Given the description of an element on the screen output the (x, y) to click on. 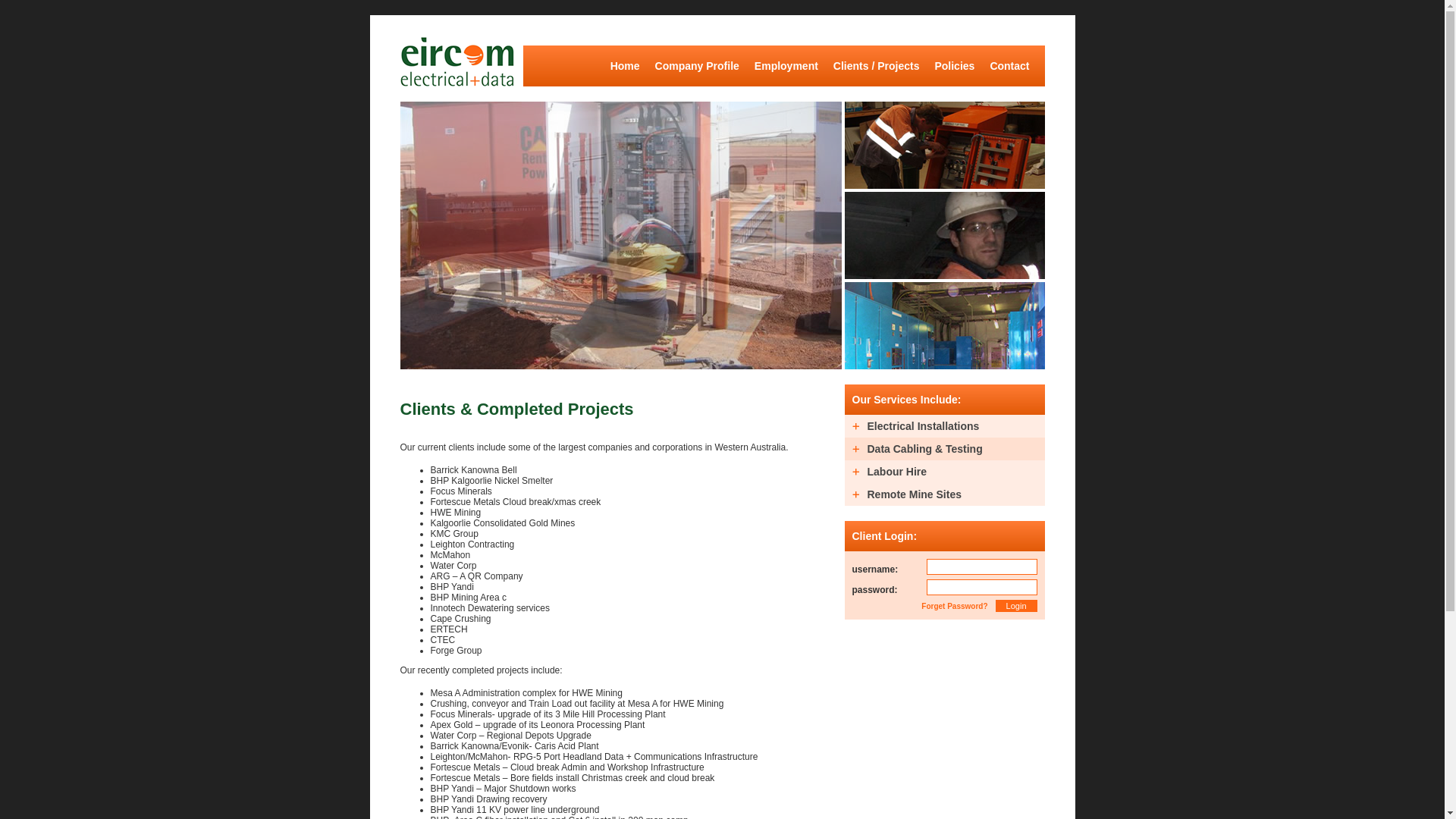
Clients / Projects Element type: text (876, 63)
Electrical Installations Element type: text (944, 425)
Employment Element type: text (786, 63)
Company Profile Element type: text (697, 63)
Labour Hire Element type: text (944, 471)
Home Element type: text (625, 63)
Login Element type: text (1016, 605)
Data Cabling & Testing Element type: text (944, 448)
Contact Element type: text (1009, 63)
Policies Element type: text (954, 63)
Forget Password? Element type: text (954, 606)
Remote Mine Sites Element type: text (944, 494)
